Given the description of an element on the screen output the (x, y) to click on. 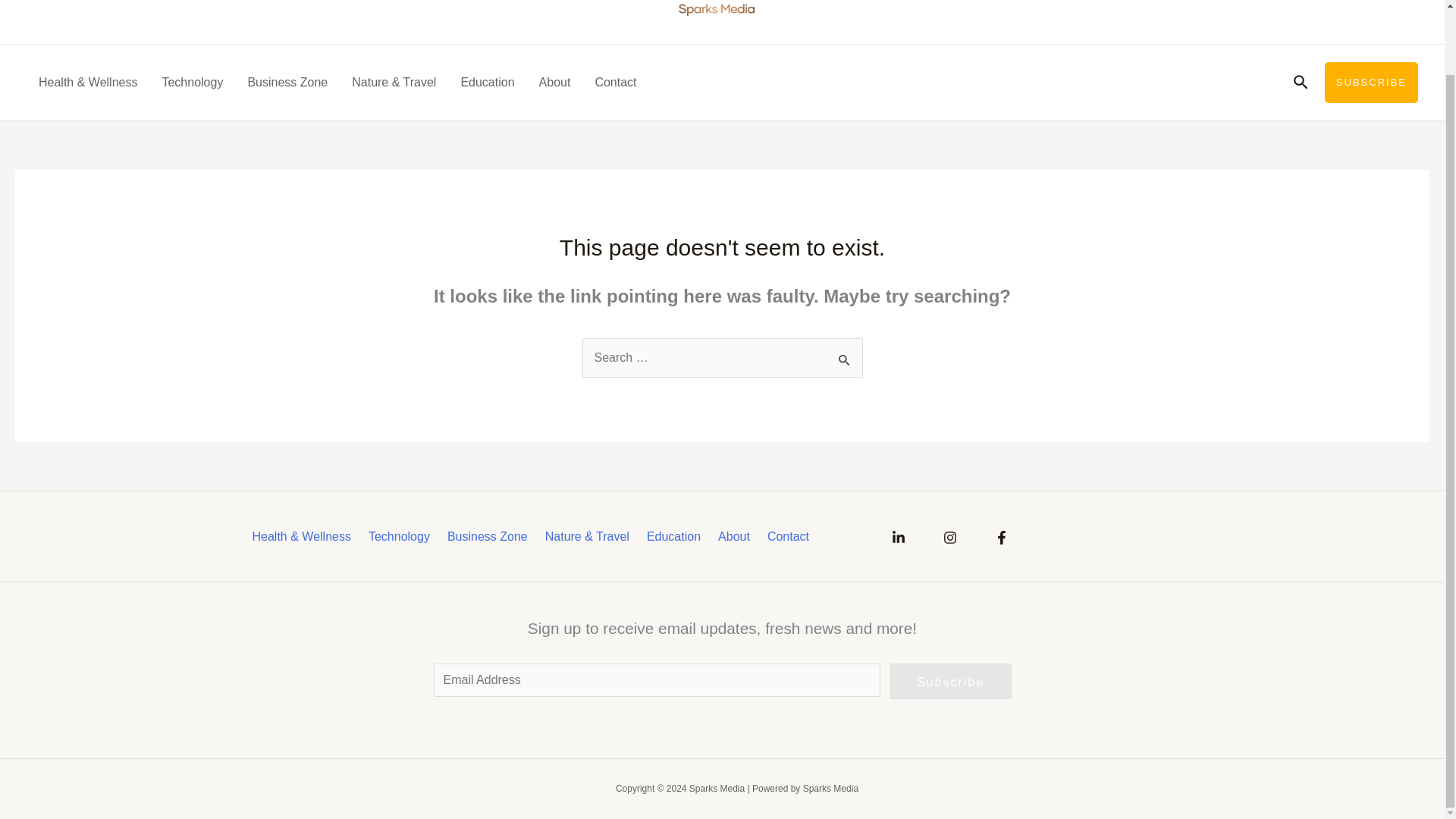
About (736, 536)
Contact (791, 536)
Subscribe (950, 681)
Business Zone (489, 536)
SUBSCRIBE (1371, 82)
Business Zone (286, 82)
Technology (401, 536)
Search (844, 356)
Search (844, 356)
Technology (191, 82)
Education (675, 536)
Education (486, 82)
Search (844, 356)
